Given the description of an element on the screen output the (x, y) to click on. 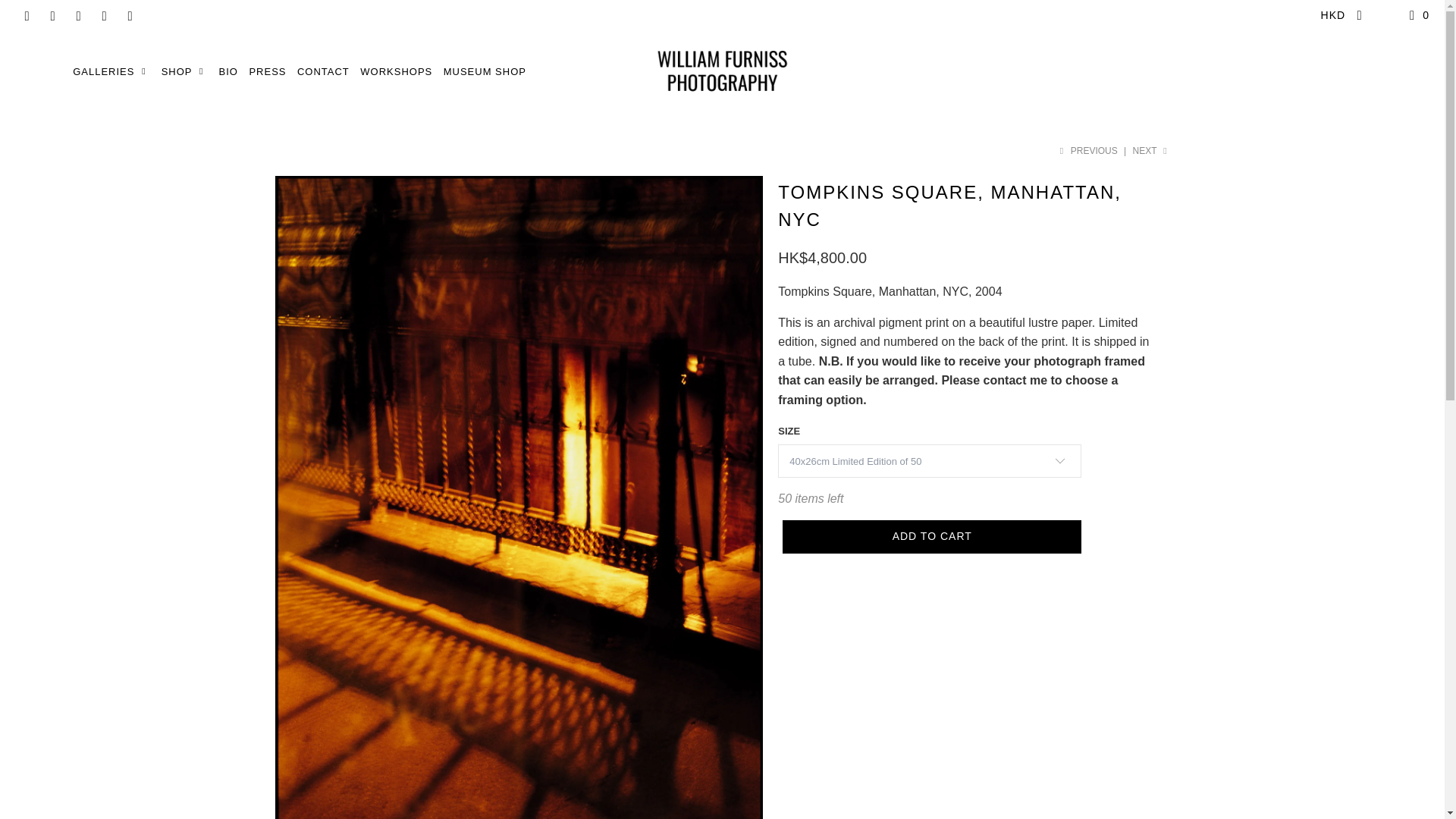
William Furniss Photography (722, 74)
Next (1151, 150)
William Furniss Photography on Facebook (52, 15)
Previous (1086, 150)
Email William Furniss Photography (129, 15)
William Furniss Photography on LinkedIn (104, 15)
William Furniss Photography on Instagram (77, 15)
William Furniss Photography on Twitter (25, 15)
